Given the description of an element on the screen output the (x, y) to click on. 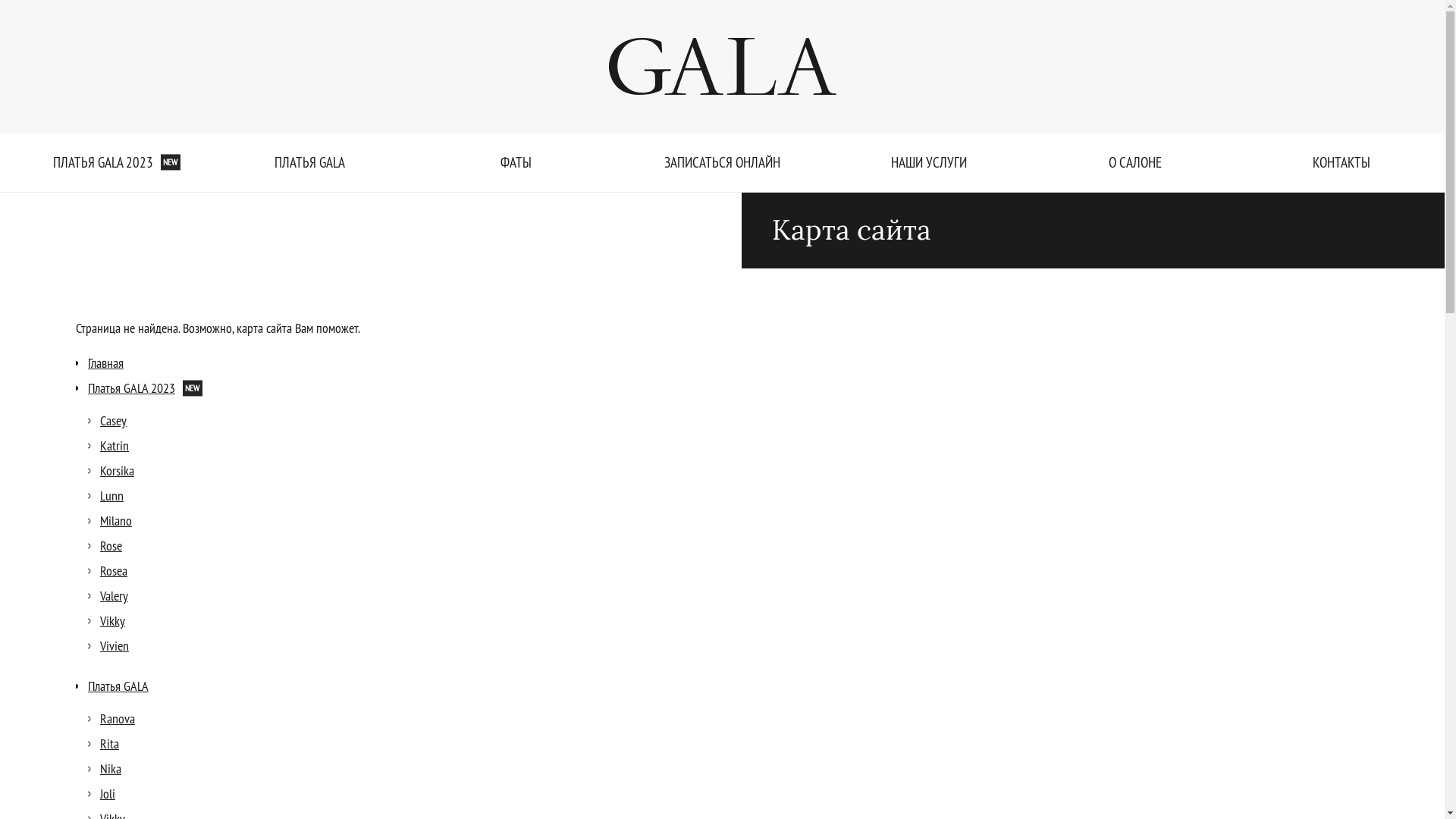
Vivien Element type: text (114, 645)
Ranova Element type: text (117, 718)
Vikky Element type: text (112, 620)
Milano Element type: text (115, 520)
Rose Element type: text (111, 545)
Valery Element type: text (114, 595)
Rosea Element type: text (113, 570)
Nika Element type: text (110, 768)
Casey Element type: text (113, 420)
Korsika Element type: text (117, 470)
Lunn Element type: text (111, 495)
Joli Element type: text (107, 793)
Rita Element type: text (109, 743)
Katrin Element type: text (114, 445)
